Given the description of an element on the screen output the (x, y) to click on. 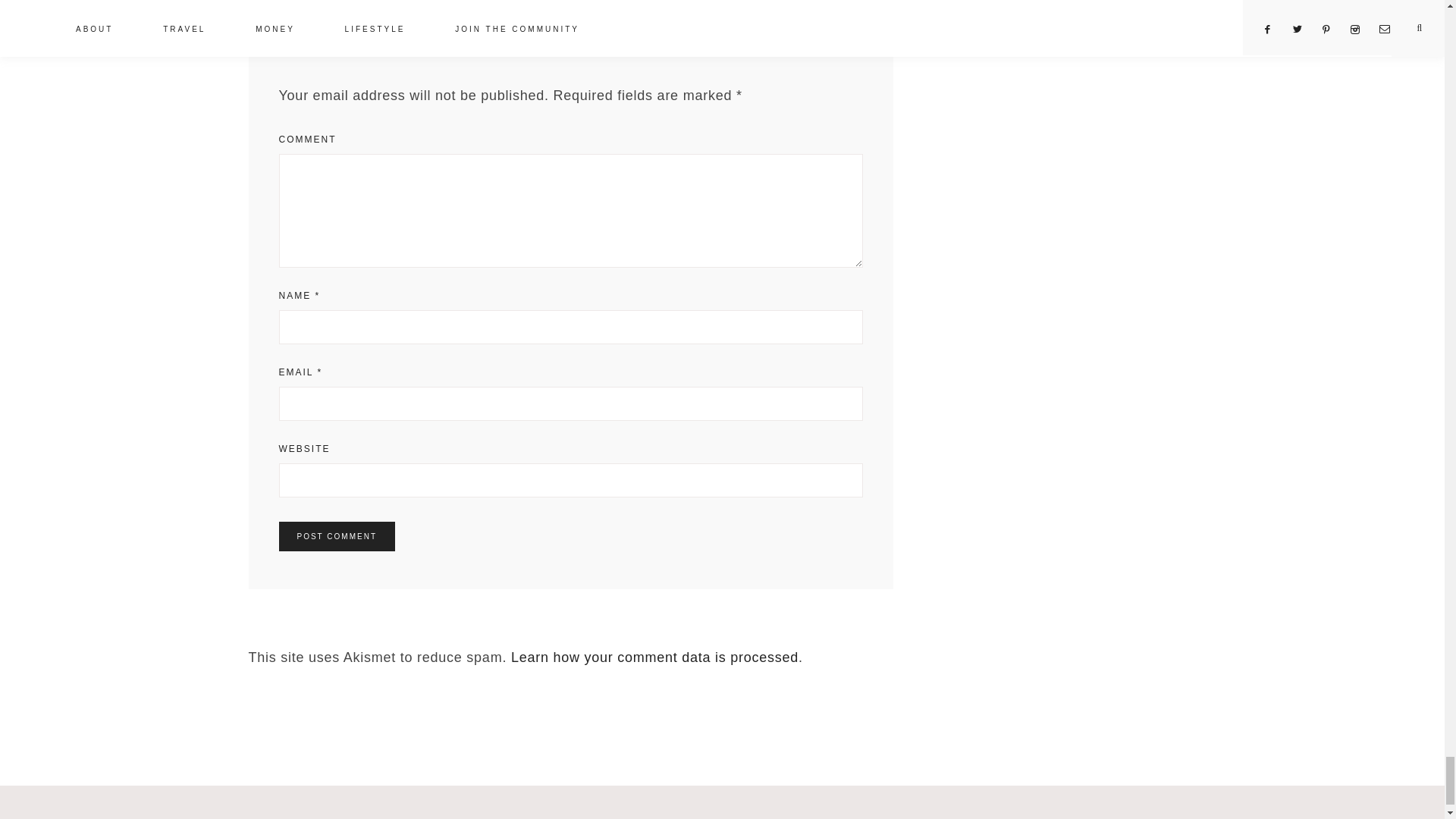
Post Comment (336, 536)
